Given the description of an element on the screen output the (x, y) to click on. 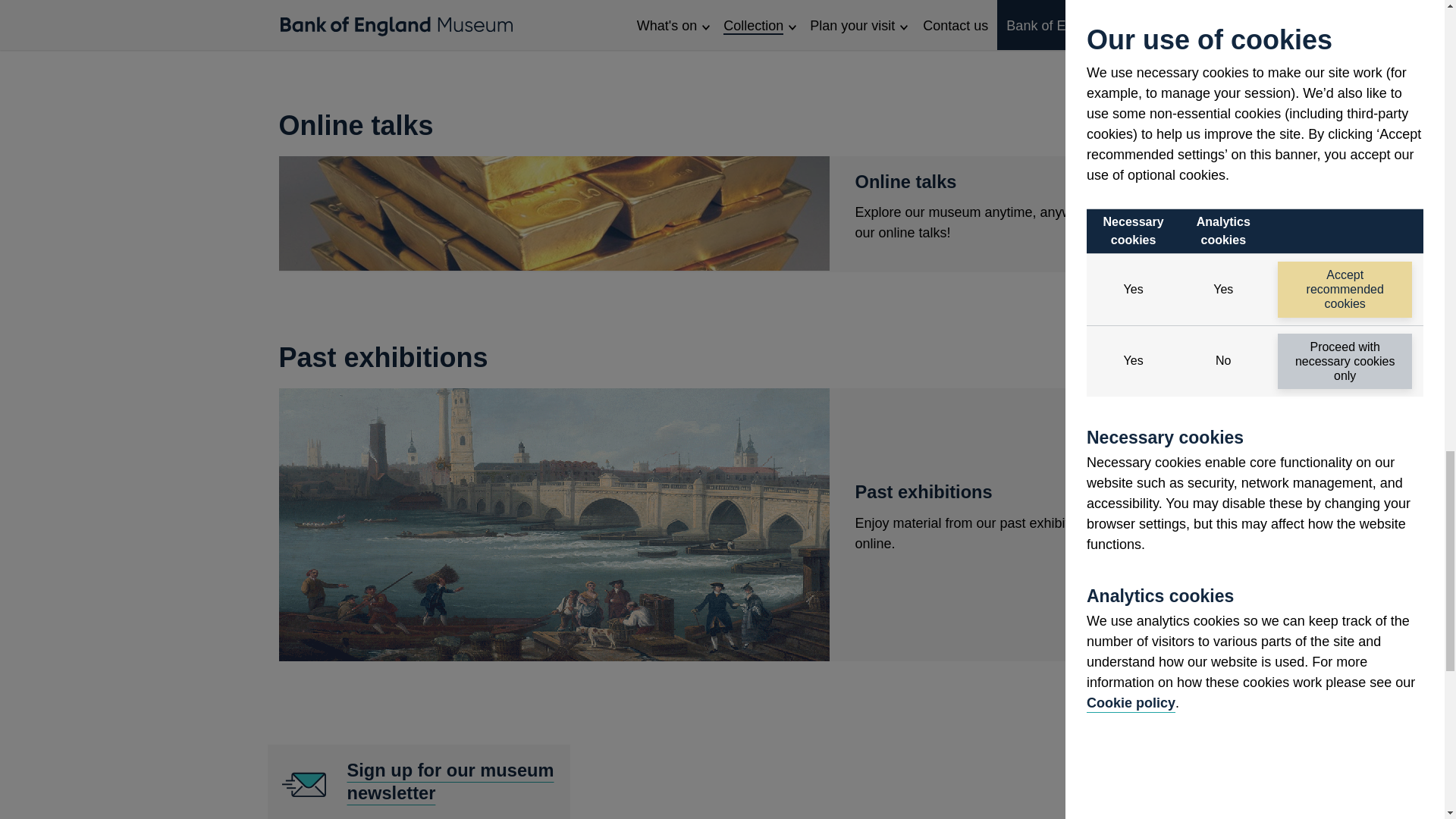
Online talks banner (418, 781)
Past exhibitions CTA large (554, 213)
